Given the description of an element on the screen output the (x, y) to click on. 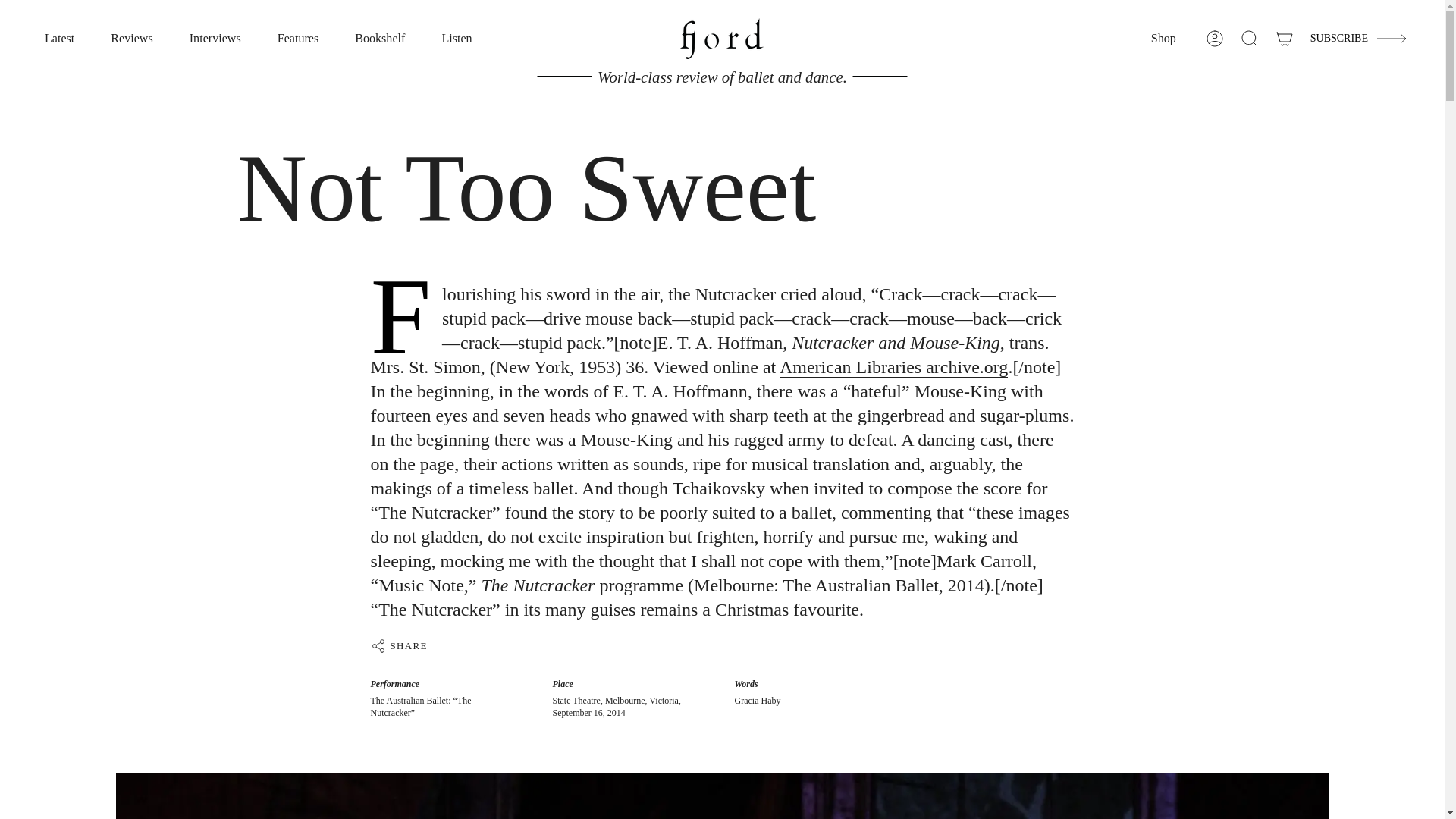
Bookshelf (379, 38)
Reviews (131, 38)
Interviews (215, 38)
Features (298, 38)
